Given the description of an element on the screen output the (x, y) to click on. 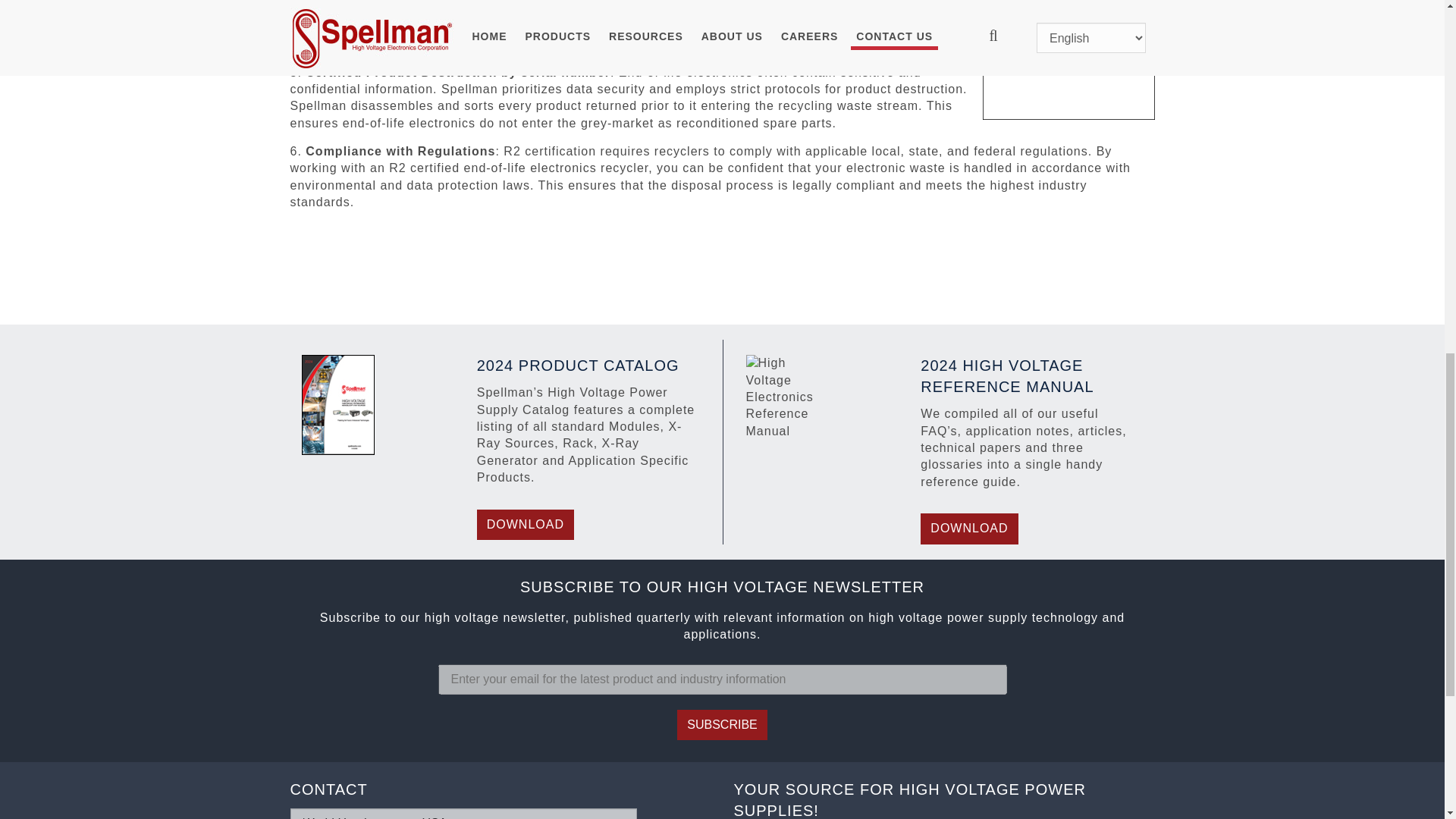
DOWNLOAD (968, 528)
DOWNLOAD (525, 524)
SUBSCRIBE (722, 725)
